Given the description of an element on the screen output the (x, y) to click on. 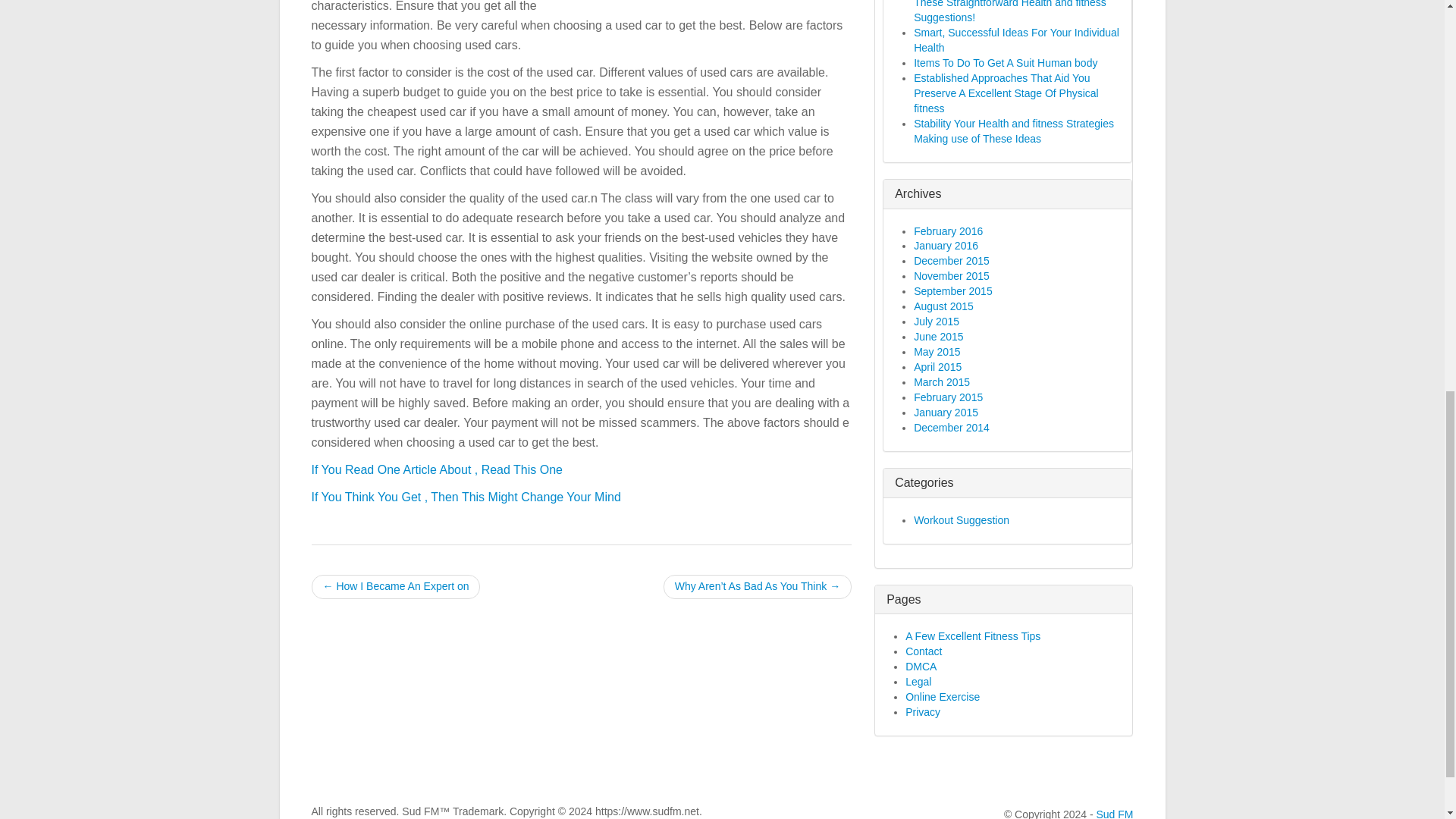
March 2015 (941, 381)
February 2015 (948, 397)
August 2015 (944, 306)
A Few Excellent Fitness Tips (973, 635)
December 2014 (952, 427)
Smart, Successful Ideas For Your Individual Health (1016, 40)
May 2015 (936, 351)
September 2015 (953, 291)
April 2015 (937, 367)
If You Think You Get , Then This Might Change Your Mind (465, 496)
January 2016 (946, 245)
February 2016 (948, 231)
Items To Do To Get A Suit Human body (1005, 62)
